Given the description of an element on the screen output the (x, y) to click on. 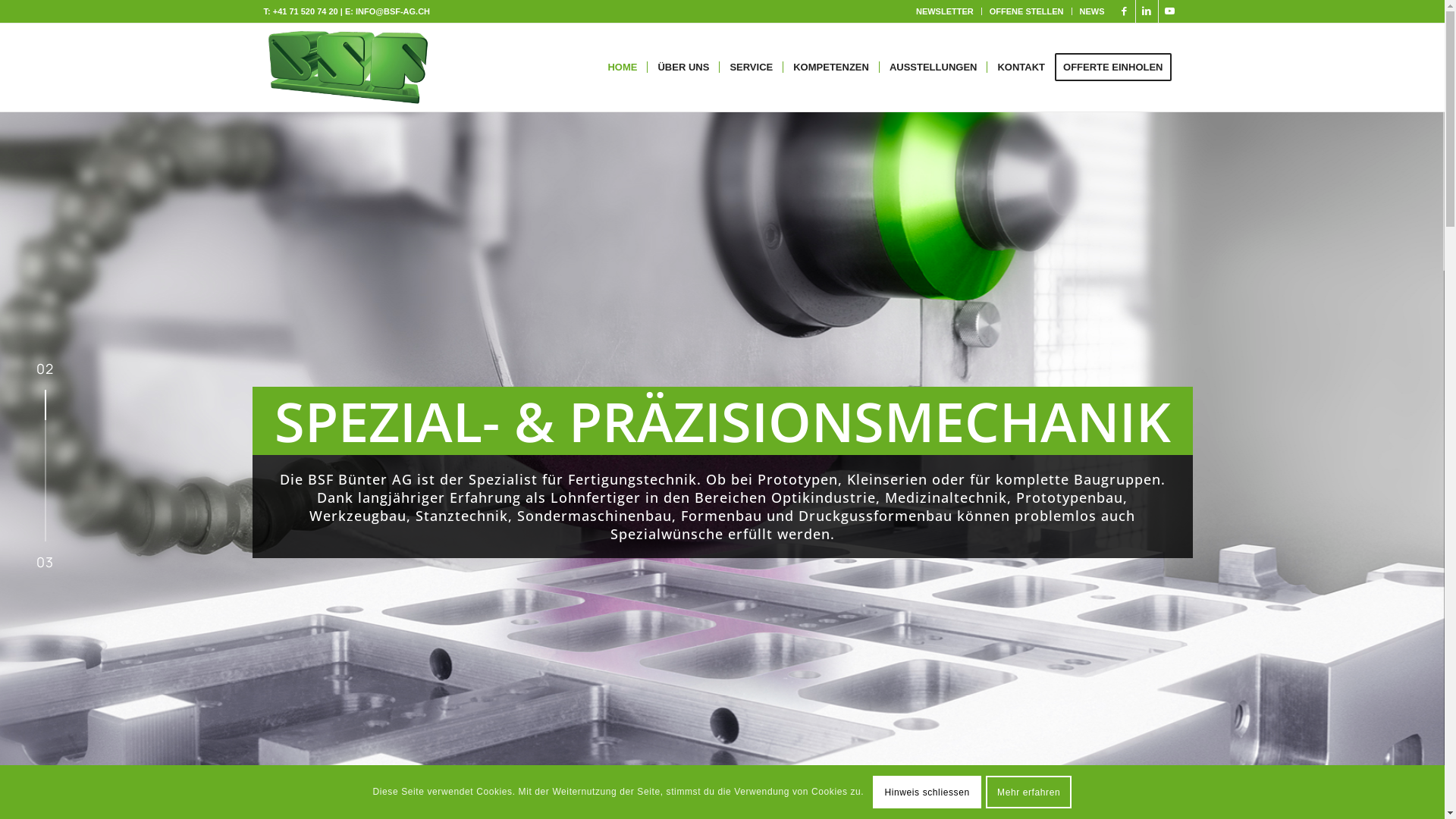
OFFENE STELLEN Element type: text (1026, 11)
Logo BSF Element type: hover (348, 67)
NEWSLETTER Element type: text (944, 11)
+41 71 520 74 20 Element type: text (305, 10)
AUSSTELLUNGEN Element type: text (932, 67)
Youtube Element type: hover (1169, 11)
LinkedIn Element type: hover (1146, 11)
Mehr erfahren Element type: text (1028, 791)
SERVICE Element type: text (750, 67)
OFFERTE EINHOLEN Element type: text (1117, 67)
Facebook Element type: hover (1124, 11)
NEWS Element type: text (1091, 11)
HOME Element type: text (621, 67)
KOMPETENZEN Element type: text (830, 67)
Hinweis schliessen Element type: text (926, 791)
INFO@BSF-AG.CH Element type: text (392, 10)
KONTAKT Element type: text (1020, 67)
